Given the description of an element on the screen output the (x, y) to click on. 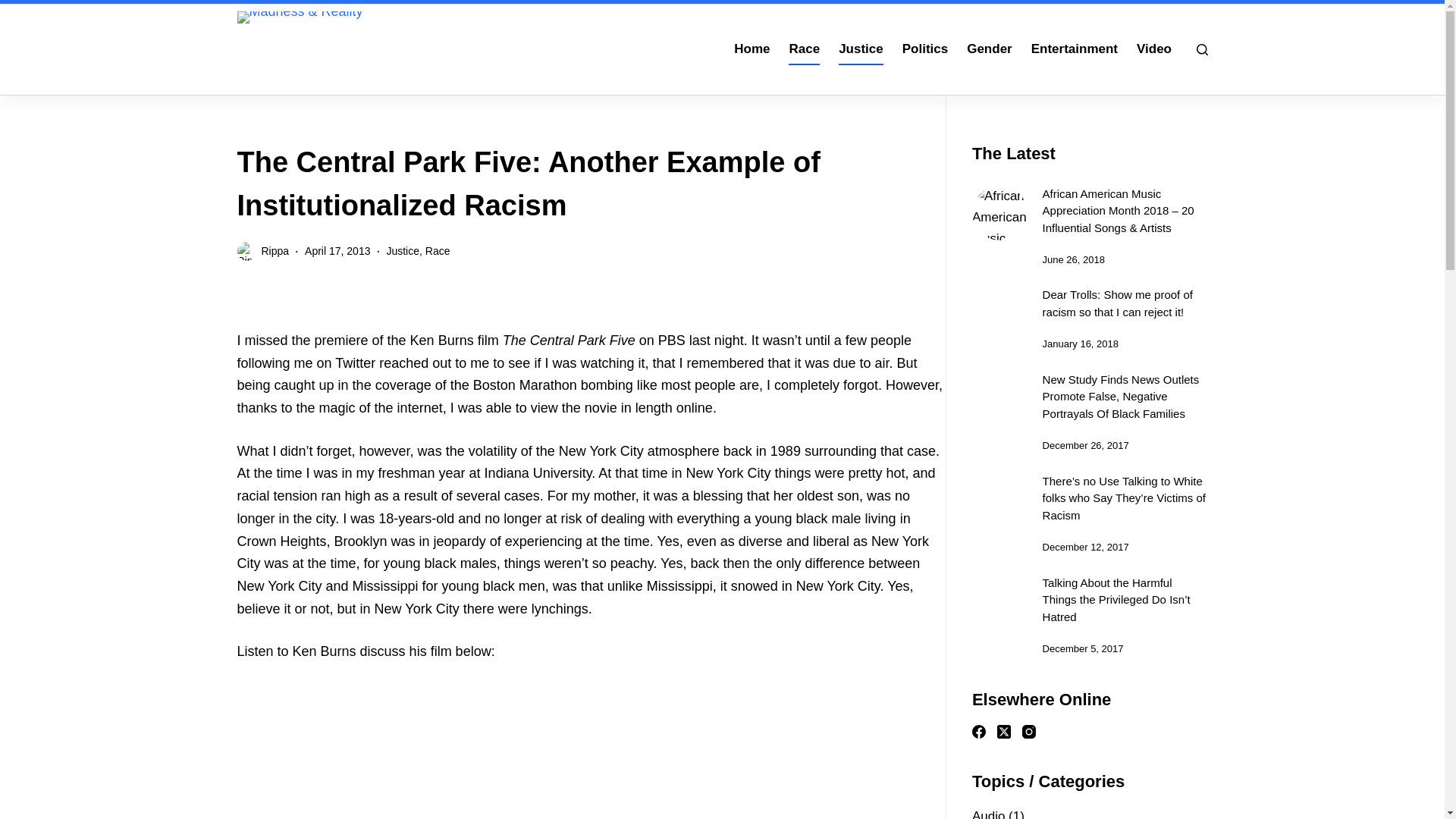
Politics (924, 49)
Race (437, 250)
Skip to content (15, 7)
Gender (990, 49)
Rippa (274, 250)
Entertainment (1074, 49)
Justice (861, 49)
Home (751, 49)
Video (1153, 49)
Posts by Rippa (274, 250)
Justice (402, 250)
Race (803, 49)
